Given the description of an element on the screen output the (x, y) to click on. 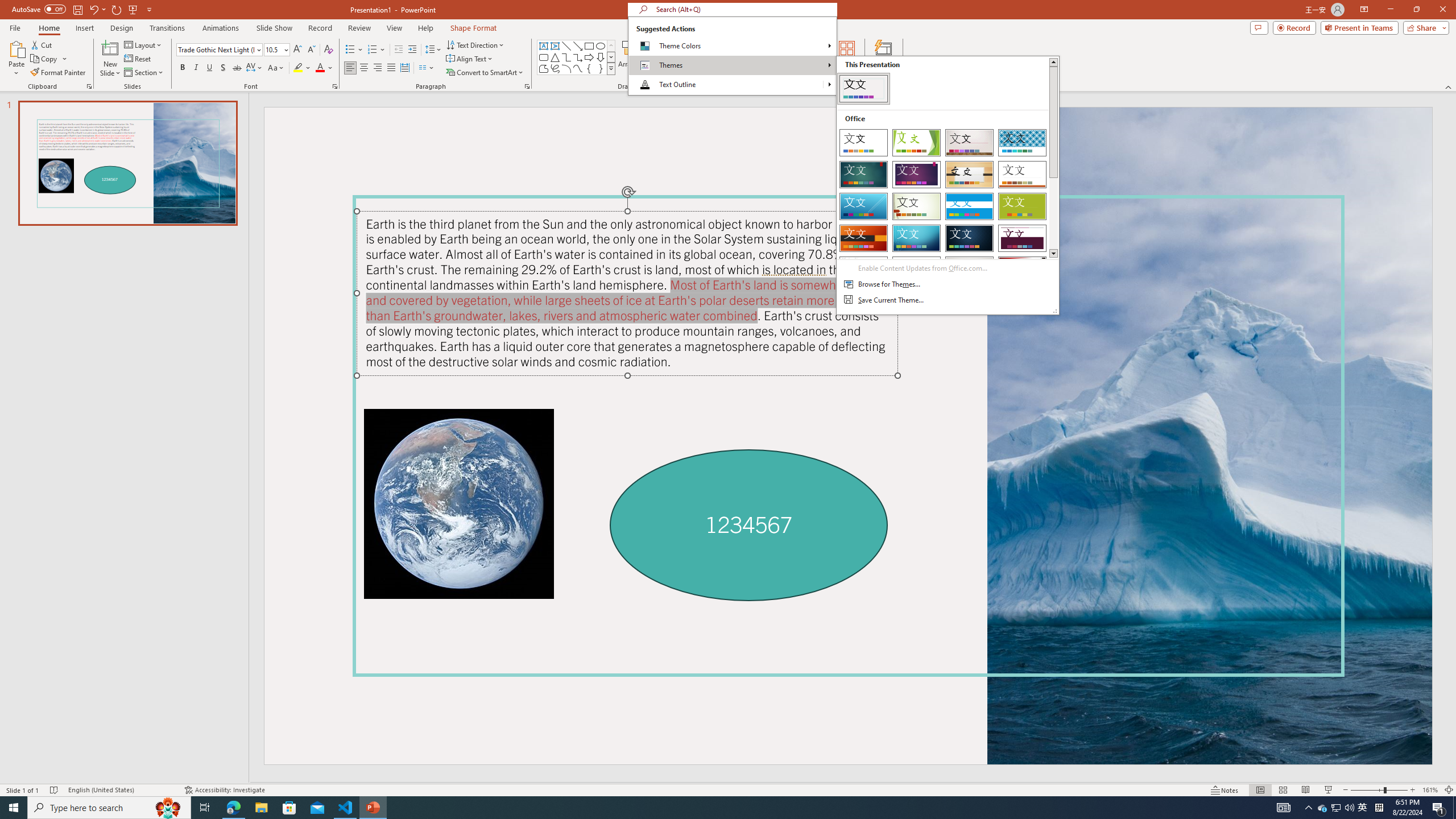
Section (144, 72)
Text Outline (725, 84)
Align Text (470, 58)
